Given the description of an element on the screen output the (x, y) to click on. 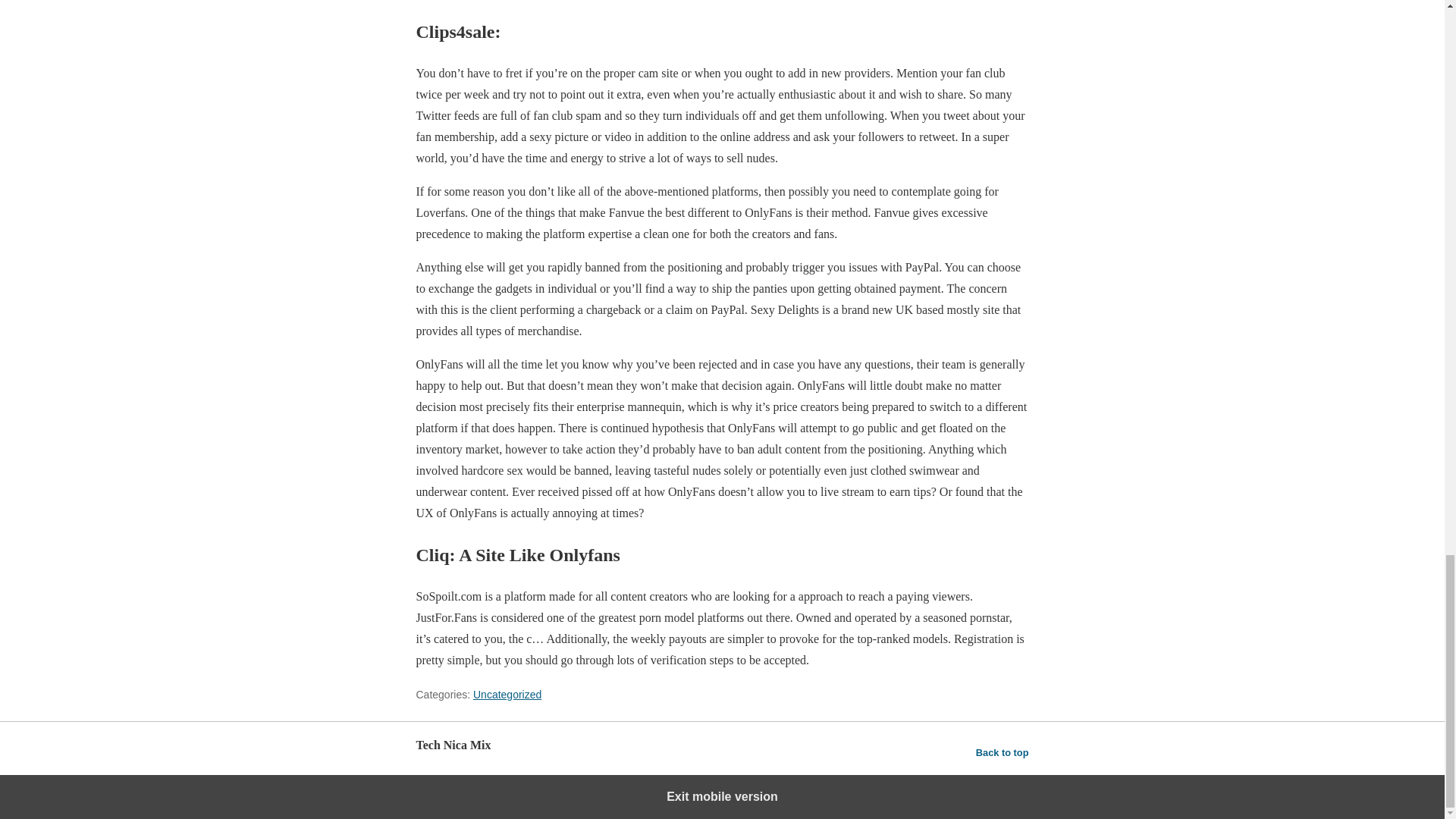
Uncategorized (507, 694)
Back to top (1002, 752)
